Given the description of an element on the screen output the (x, y) to click on. 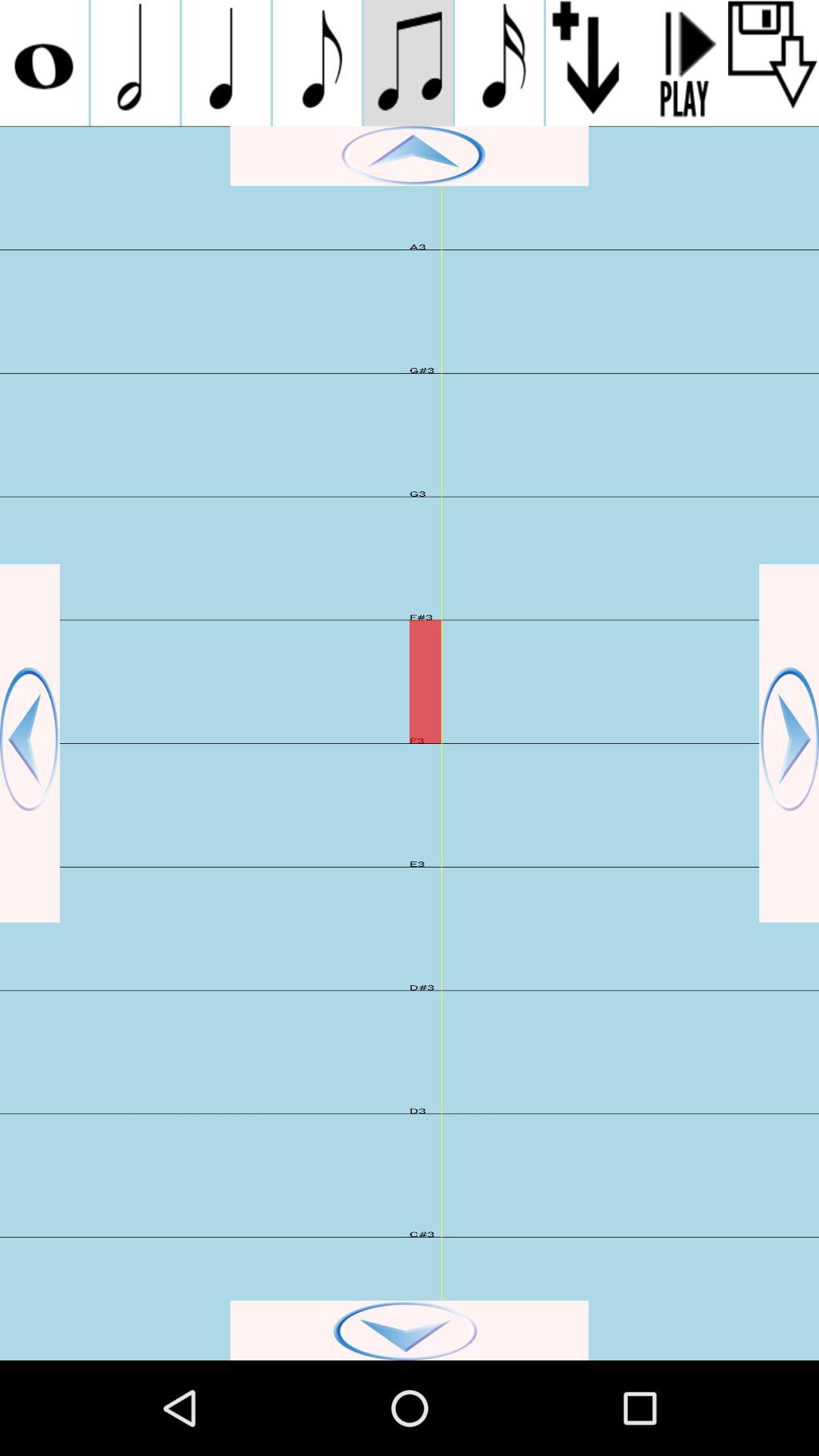
move to the left (29, 742)
